Given the description of an element on the screen output the (x, y) to click on. 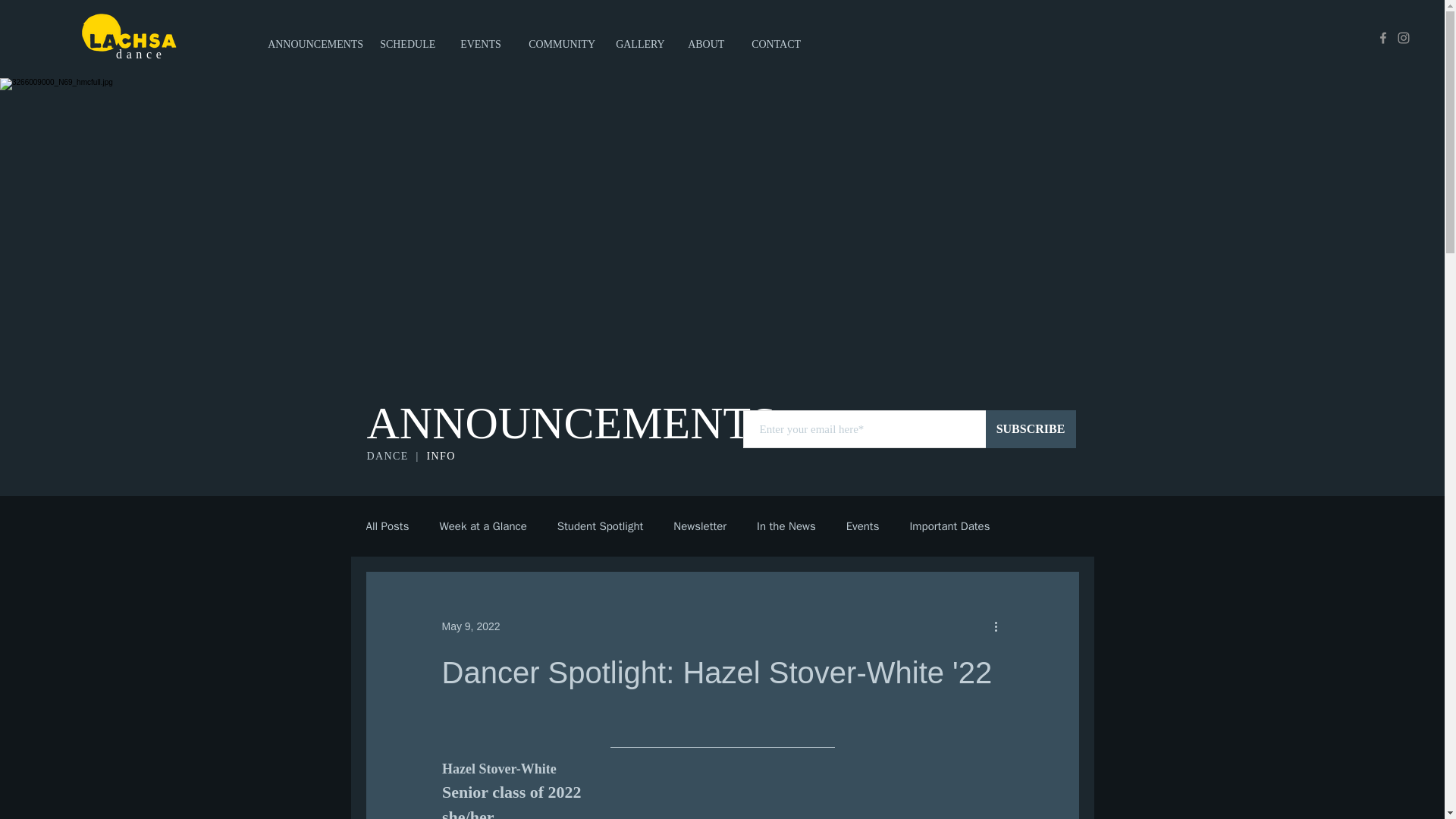
Important Dates (949, 526)
All Posts (387, 526)
May 9, 2022 (470, 625)
CONTACT (779, 37)
DANCE   (391, 455)
Week at a Glance (482, 526)
Newsletter (699, 526)
In the News (786, 526)
Events (862, 526)
Student Spotlight (600, 526)
